Given the description of an element on the screen output the (x, y) to click on. 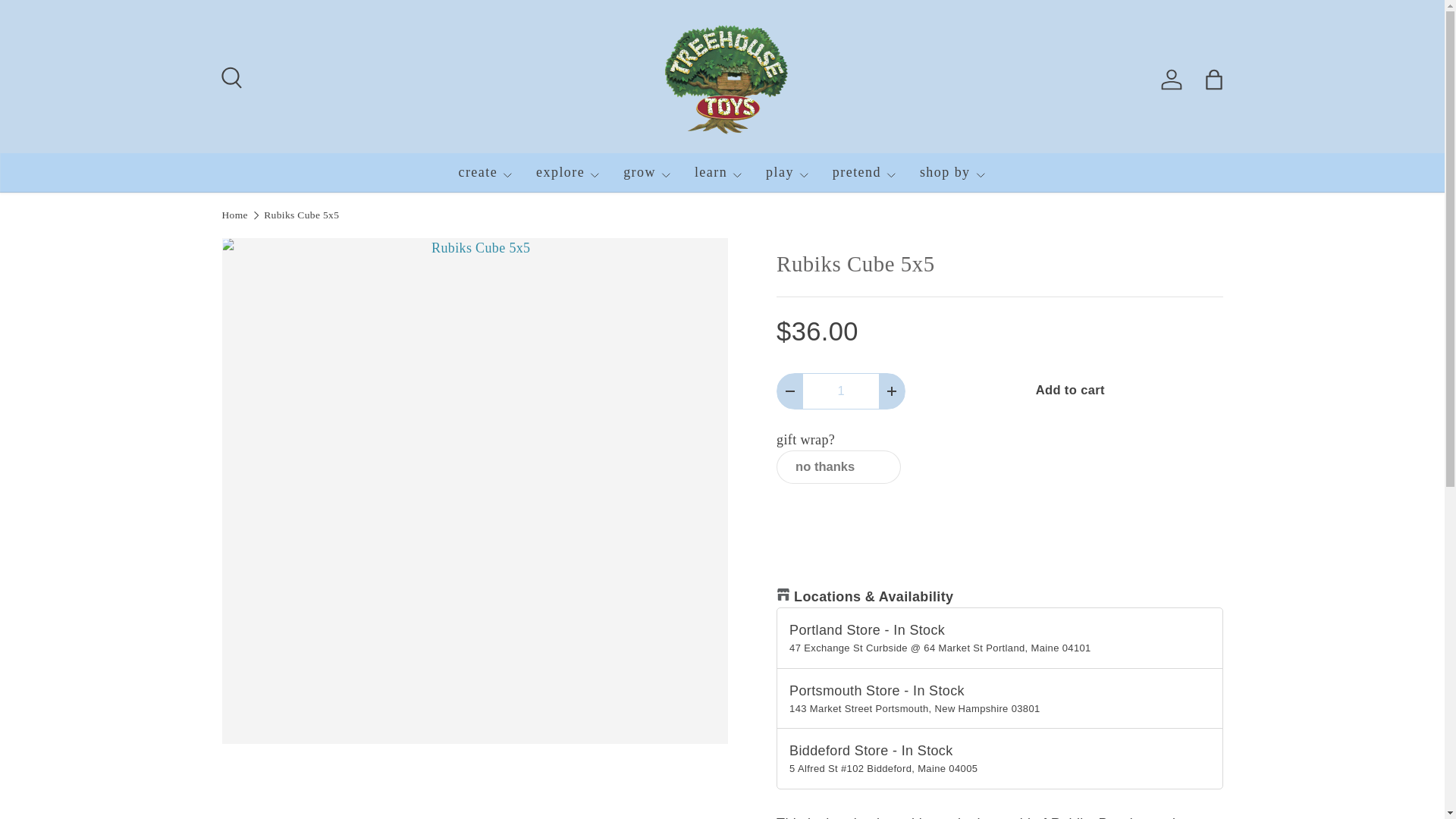
Skip to content (64, 21)
1 (841, 391)
Log in (1171, 79)
Search (229, 75)
create (485, 172)
Bag (1213, 79)
